Given the description of an element on the screen output the (x, y) to click on. 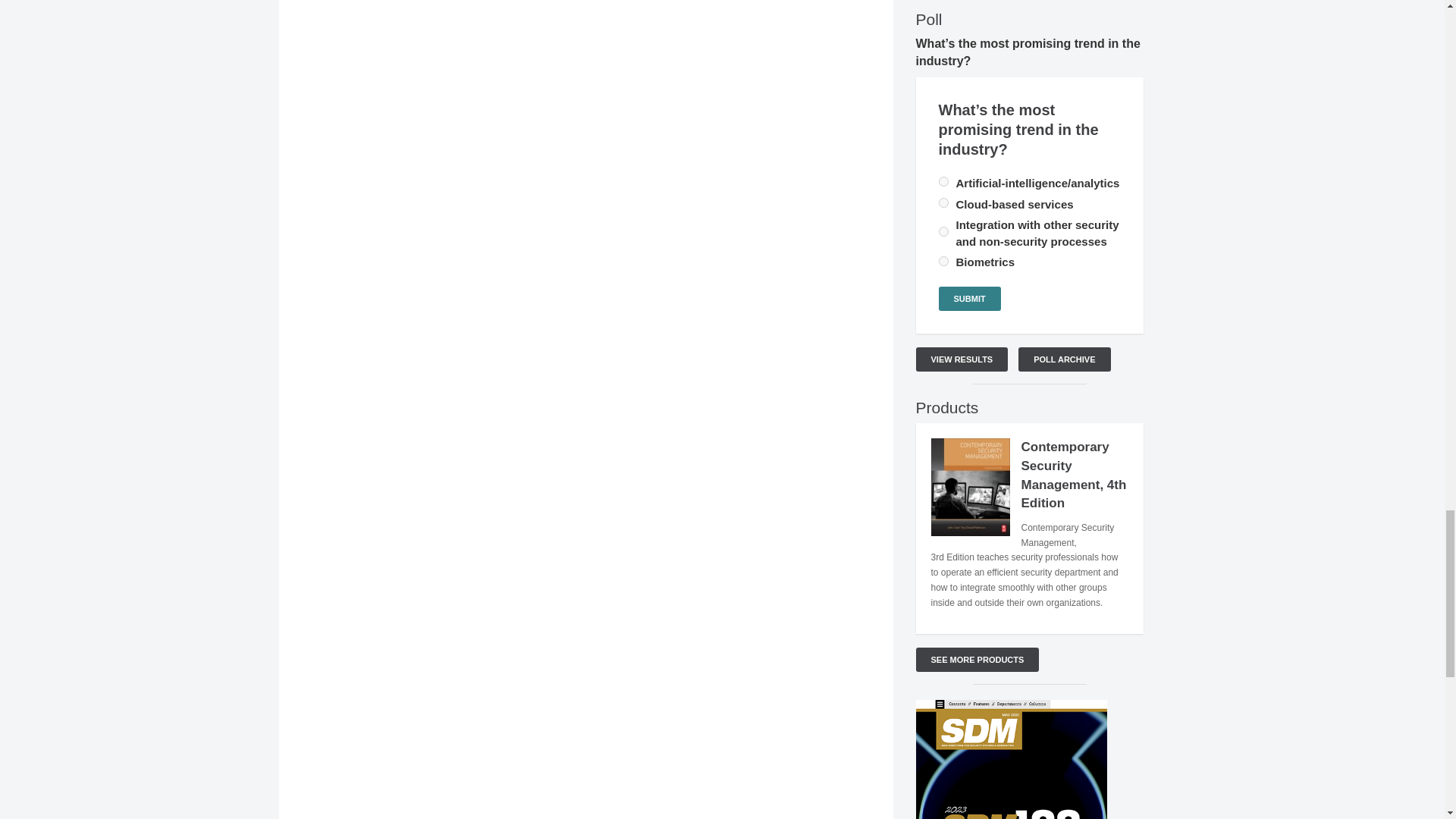
490 (944, 203)
489 (944, 181)
491 (944, 231)
Submit (970, 298)
492 (944, 261)
